Given the description of an element on the screen output the (x, y) to click on. 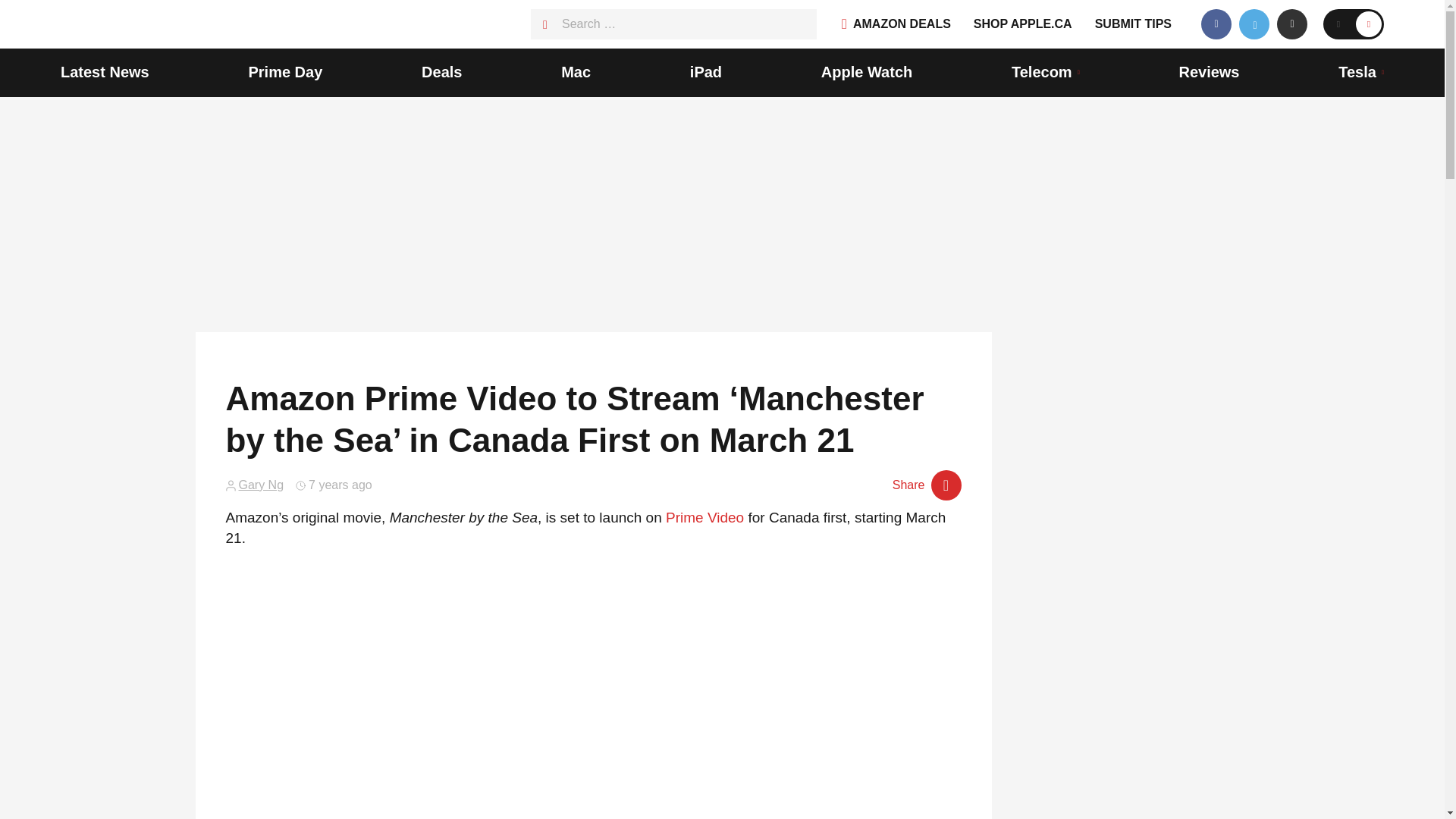
Prime Day (284, 72)
Mac (575, 72)
Share (926, 485)
Prime Video (704, 517)
SUBMIT TIPS (1133, 23)
Reviews (1208, 72)
iPad (706, 72)
Latest News (105, 72)
Search for: (673, 24)
Apple Watch (866, 72)
AMAZON DEALS (895, 23)
Deals (441, 72)
Gary Ng (260, 484)
SHOP APPLE.CA (1022, 23)
